Given the description of an element on the screen output the (x, y) to click on. 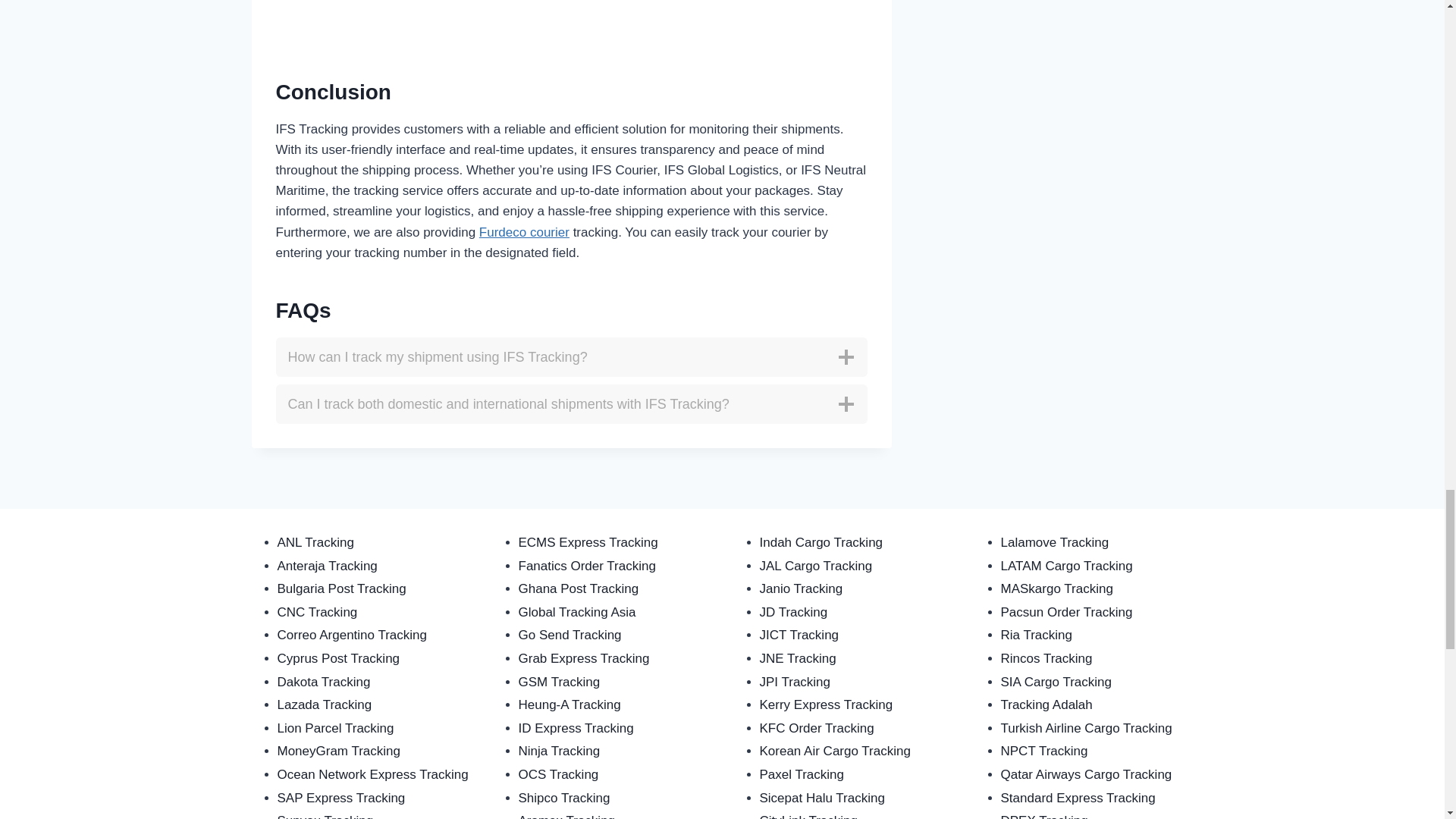
Anteraja Tracking (327, 565)
Bulgaria Post Tracking (342, 588)
Dakota Tracking (324, 681)
Furdeco courier (524, 232)
Cyprus Post Tracking (339, 658)
Correo Argentino Tracking (353, 635)
How can I track my shipment using IFS Tracking? (571, 356)
CNC Tracking (318, 612)
ANL Tracking (315, 542)
MoneyGram Tracking (339, 750)
